Given the description of an element on the screen output the (x, y) to click on. 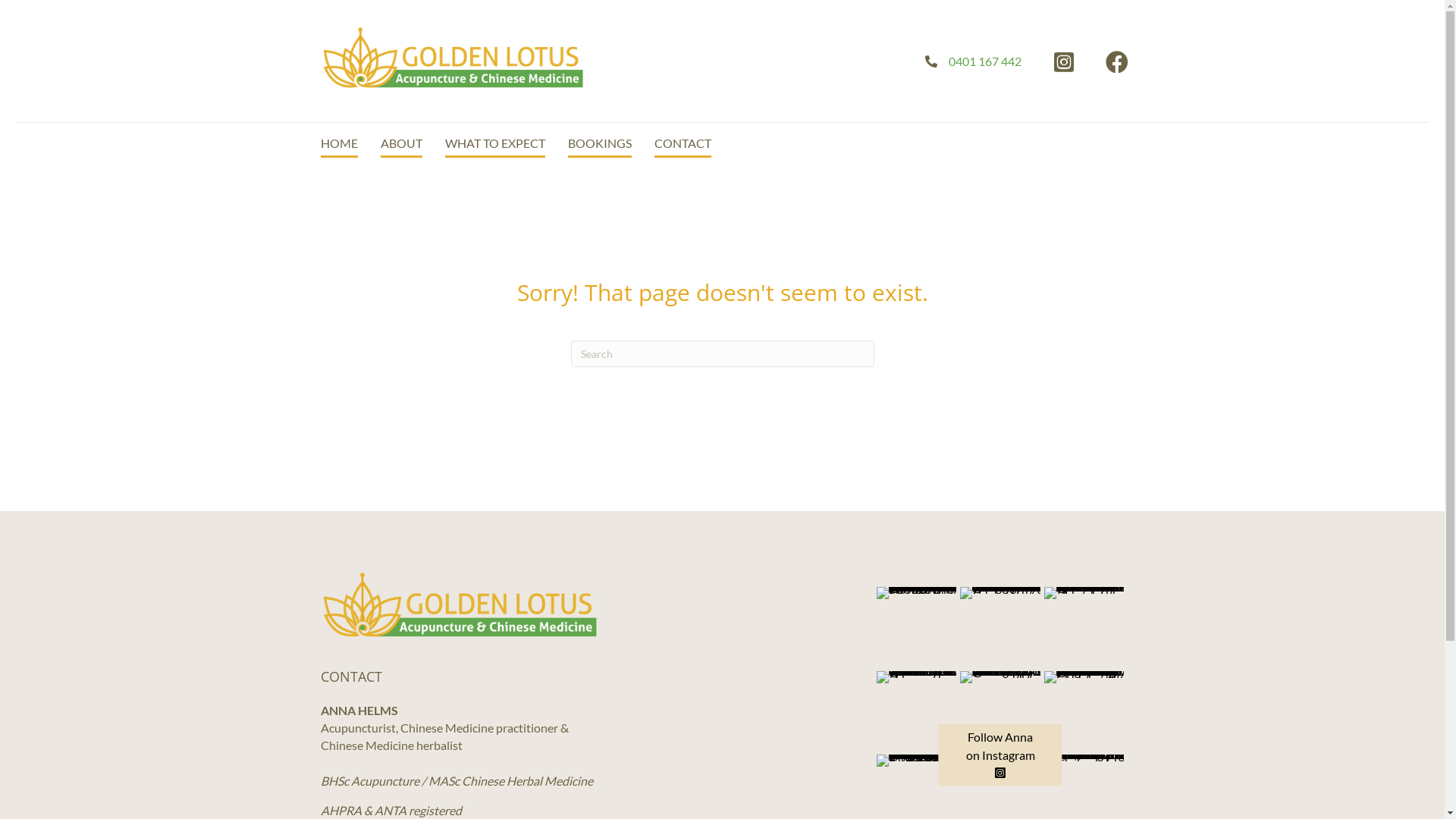
BOOKINGS Element type: text (598, 143)
ABOUT Element type: text (401, 143)
GoldenLotus_Logo_2023 Element type: hover (452, 56)
Type and press Enter to search. Element type: hover (721, 353)
GoldenLotus_Logo_2023 Element type: hover (459, 603)
HOME Element type: text (338, 143)
0401 167 442 Element type: text (984, 60)
Follow Anna on Instagram Element type: text (1000, 754)
WHAT TO EXPECT Element type: text (494, 143)
CONTACT Element type: text (681, 143)
